Given the description of an element on the screen output the (x, y) to click on. 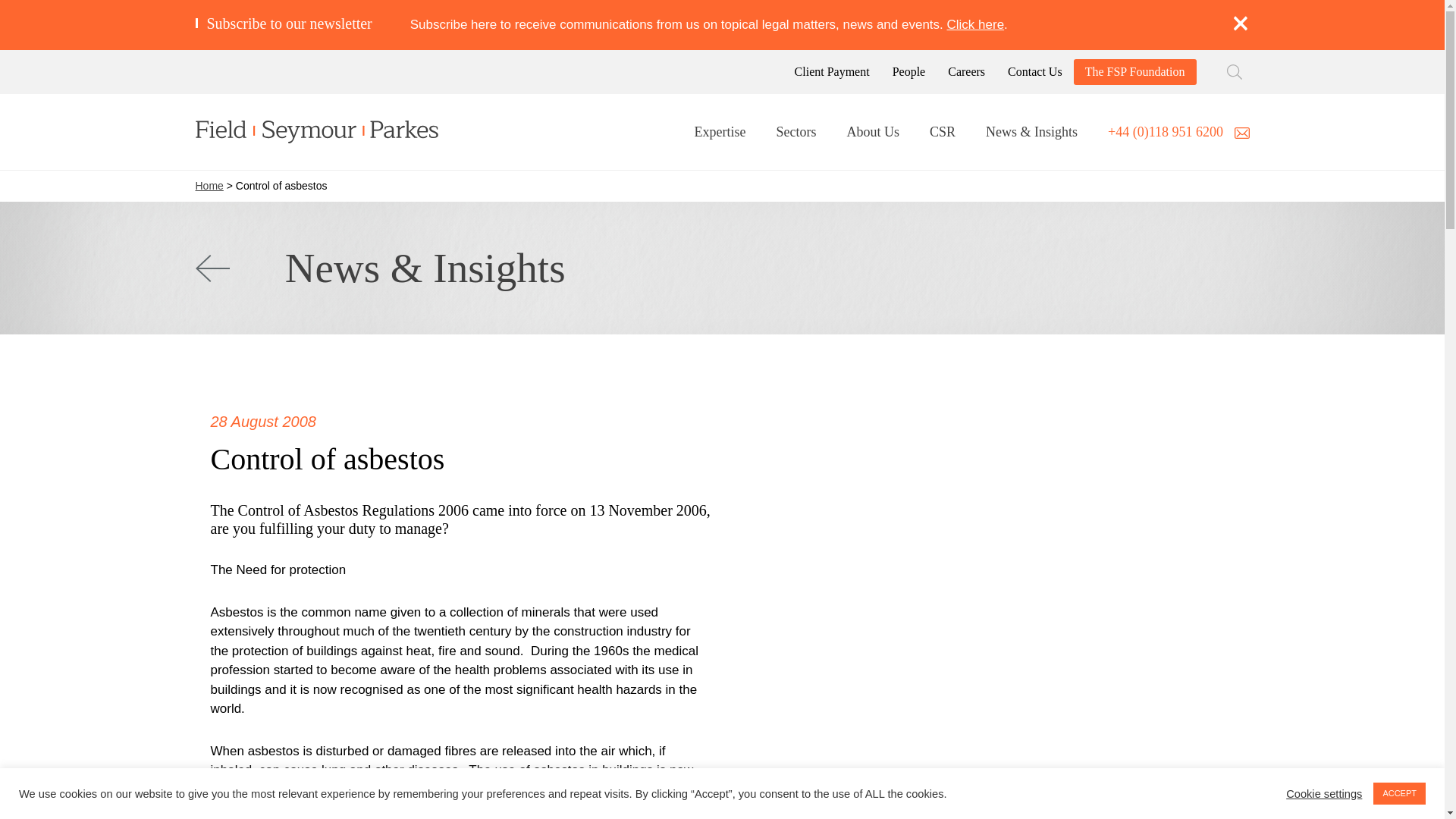
Contact Us (1034, 71)
Expertise (719, 133)
People (909, 71)
Sectors (795, 133)
Careers (966, 71)
The FSP Foundation (1134, 72)
Client Payment (831, 71)
Expertise (719, 133)
Click here (975, 24)
